Given the description of an element on the screen output the (x, y) to click on. 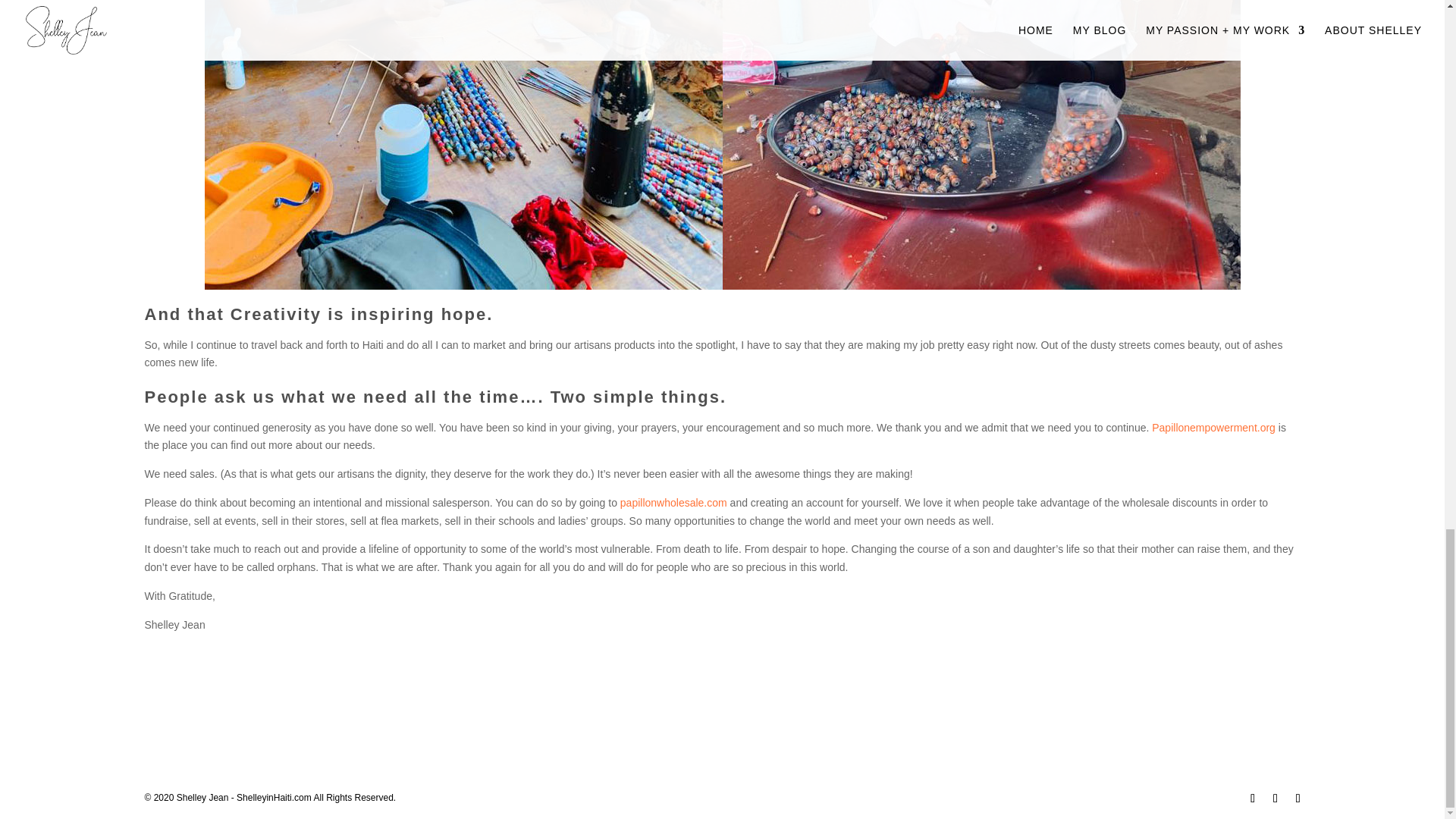
Papillonempowerment.org (1213, 426)
papillonwholesale.com (673, 502)
